Given the description of an element on the screen output the (x, y) to click on. 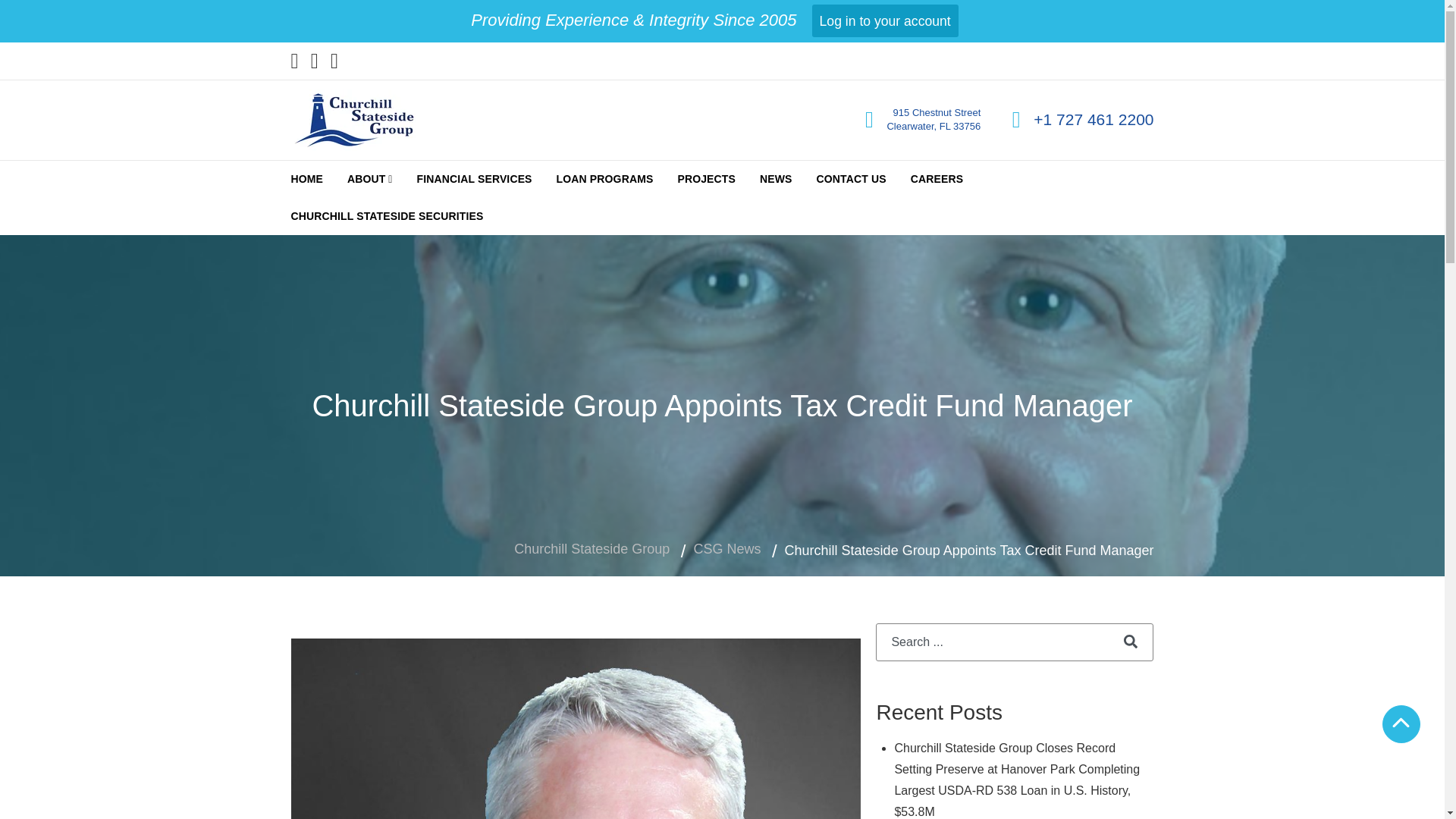
CHURCHILL STATESIDE SECURITIES (387, 216)
Log in to your account (885, 20)
Churchill Stateside Group Appoints Tax Credit Fund Manager (576, 728)
NEWS (776, 179)
Header Logo (353, 119)
FINANCIAL SERVICES (473, 179)
Churchill Stateside Group (591, 548)
HOME (307, 179)
LOAN PROGRAMS (604, 179)
CSG News (726, 548)
